Given the description of an element on the screen output the (x, y) to click on. 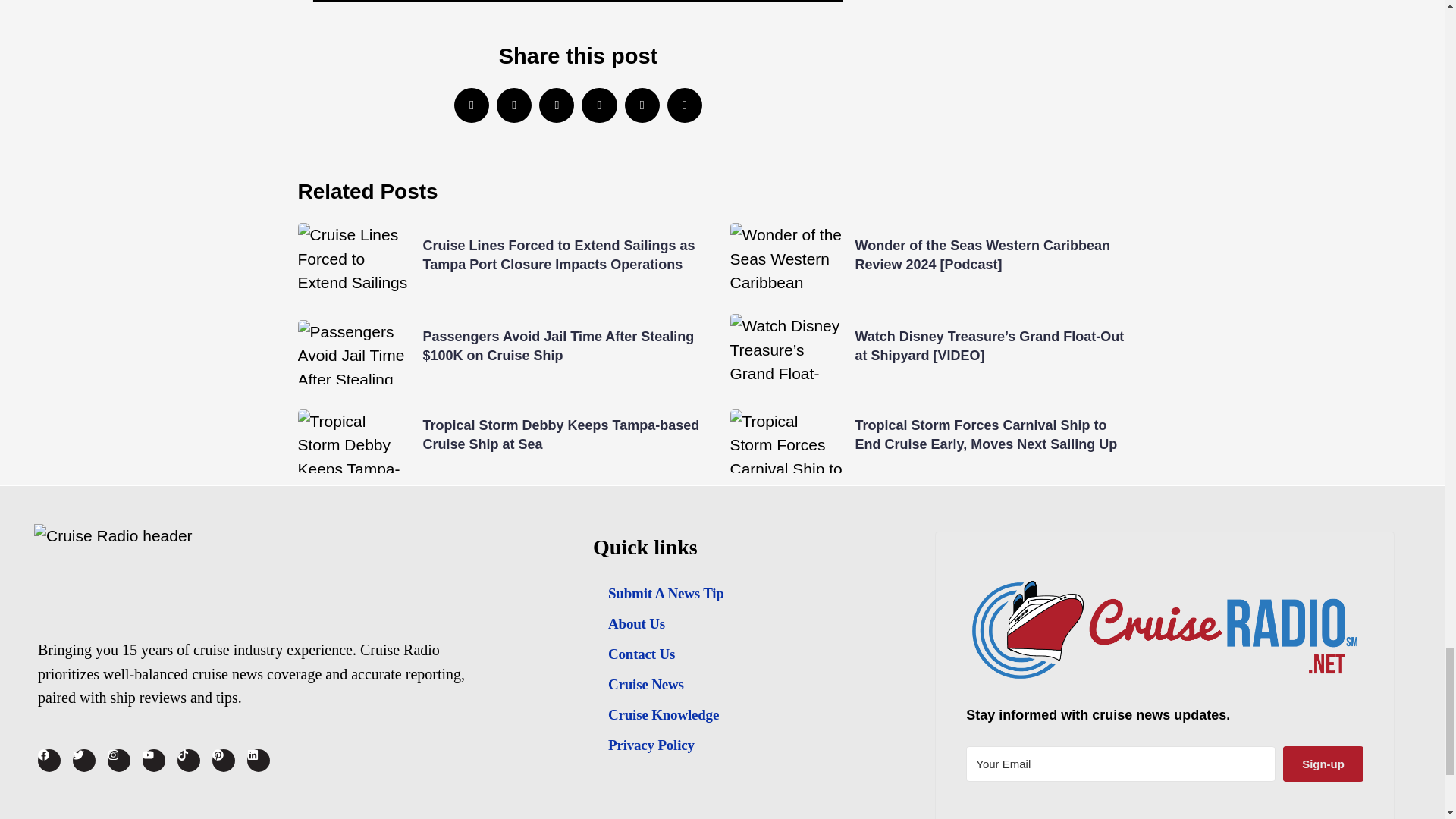
Tropical Storm Debby Keeps Tampa-based Cruise Ship at Sea (561, 434)
